Given the description of an element on the screen output the (x, y) to click on. 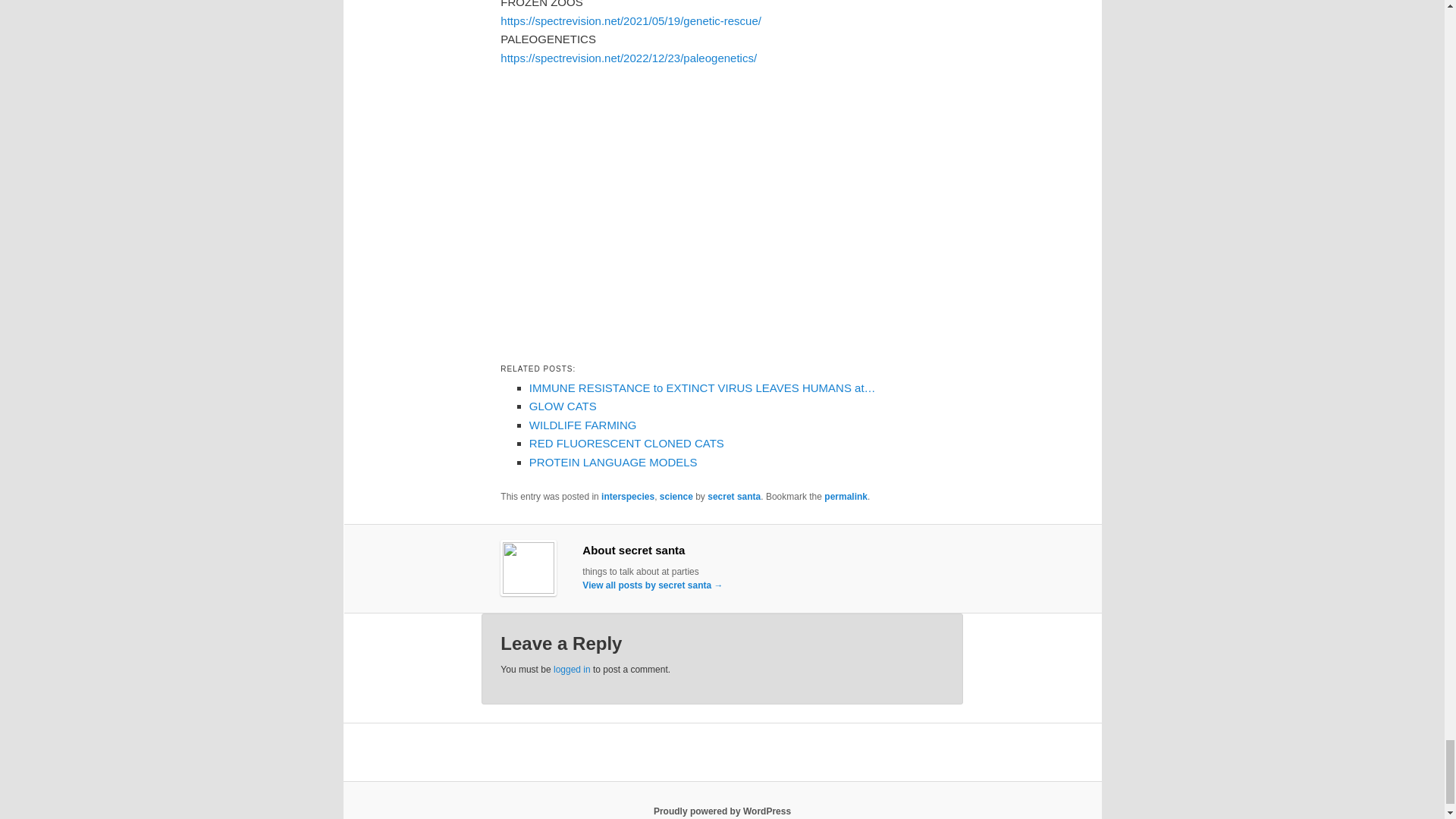
Semantic Personal Publishing Platform (721, 810)
Permalink to BAT NIGHTCLUBS (845, 496)
